Given the description of an element on the screen output the (x, y) to click on. 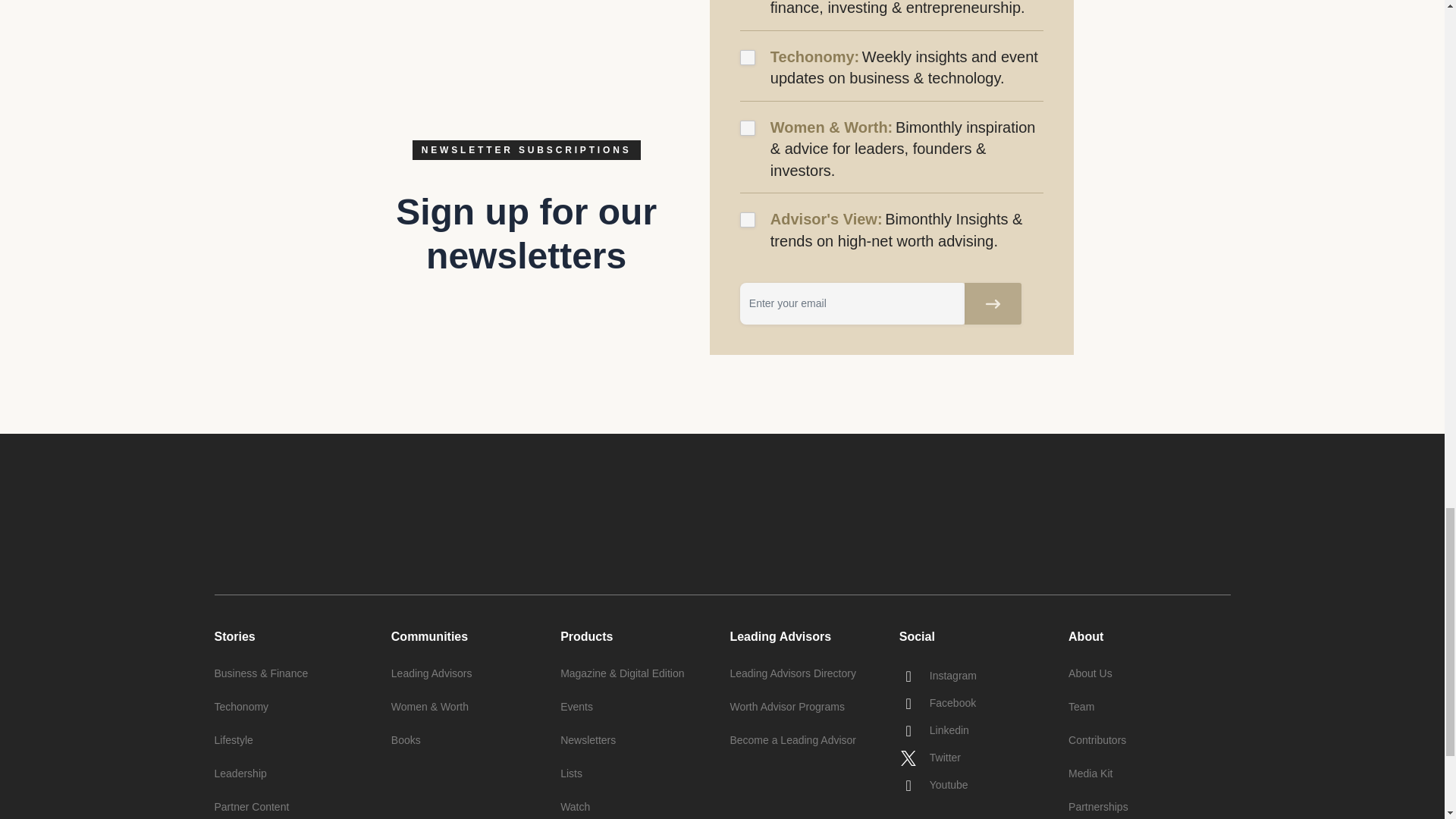
yes (747, 219)
yes (747, 57)
yes (747, 127)
